Given the description of an element on the screen output the (x, y) to click on. 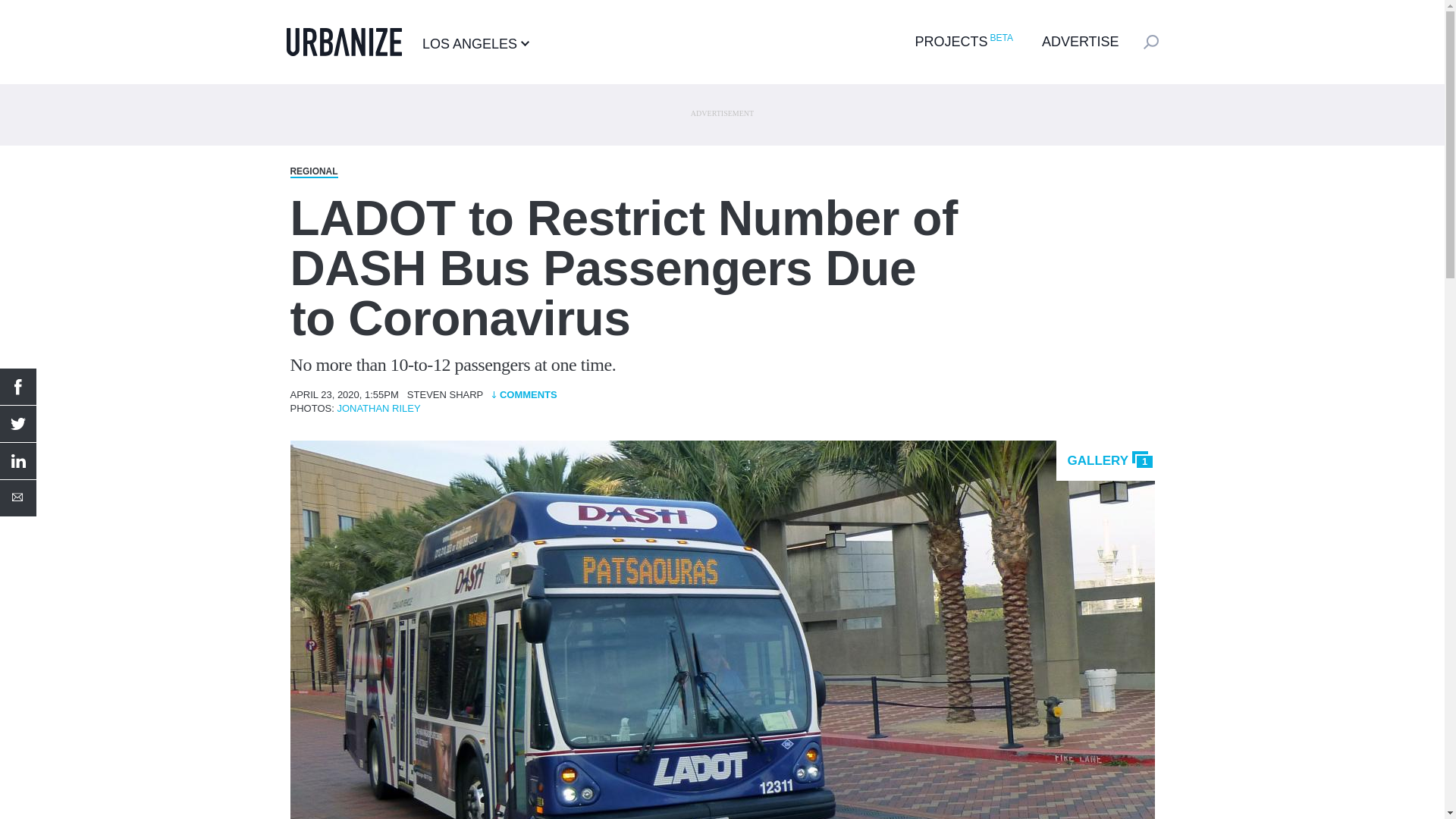
Share by Facebook (18, 386)
ADVERTISE (1080, 41)
LOS ANGELES (475, 43)
Share by email (18, 497)
Share by LinkedIn (18, 461)
Share by Twitter (18, 423)
PROJECTSBETA (962, 41)
